Given the description of an element on the screen output the (x, y) to click on. 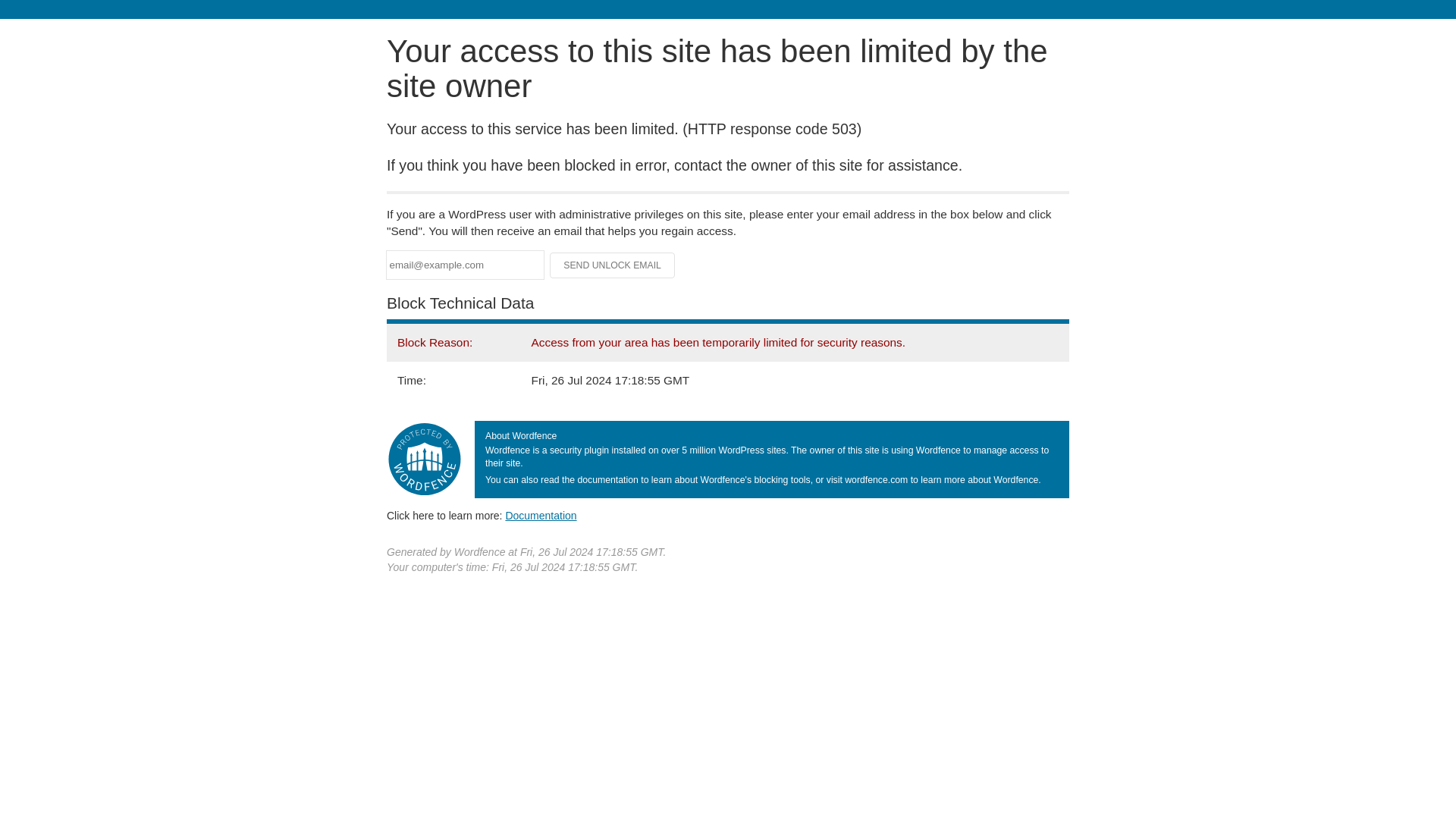
Send Unlock Email (612, 265)
Documentation (540, 515)
Send Unlock Email (612, 265)
